Given the description of an element on the screen output the (x, y) to click on. 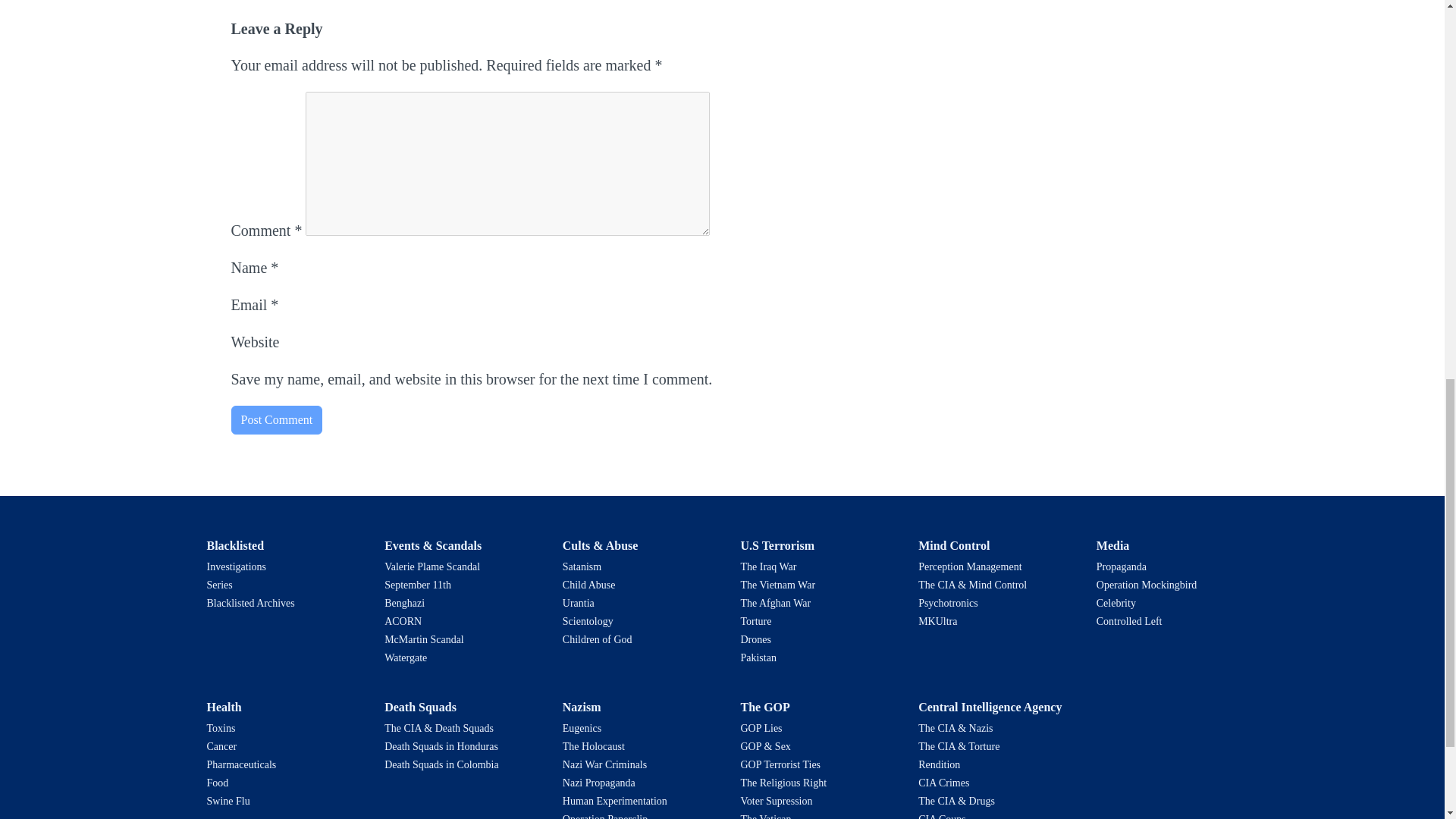
Post Comment (275, 419)
